Given the description of an element on the screen output the (x, y) to click on. 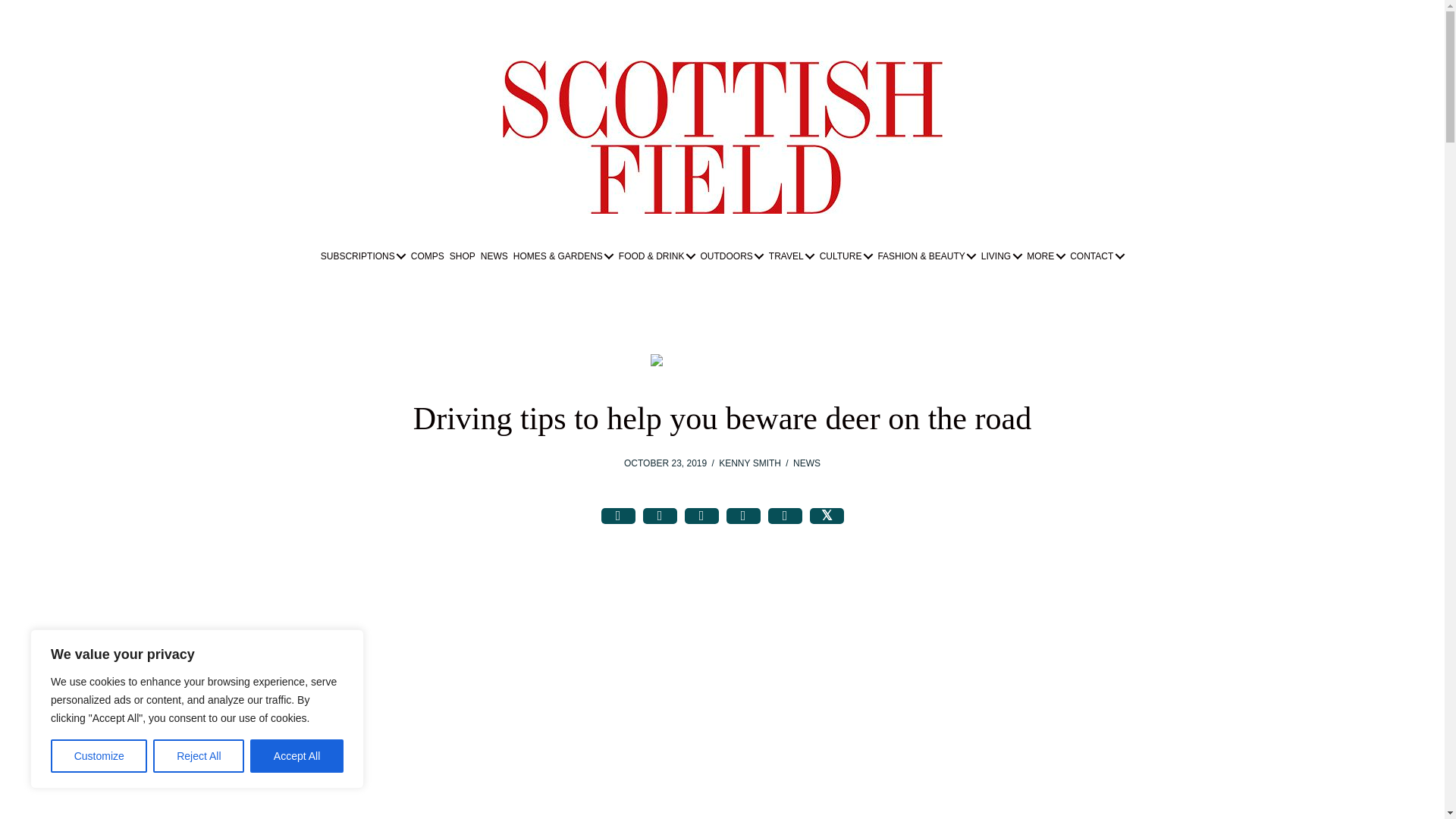
SUBSCRIPTIONS (362, 255)
COMPS (427, 255)
Reject All (198, 756)
NEWS (495, 255)
SHOP (461, 255)
OUTDOORS (731, 255)
Accept All (296, 756)
Customize (98, 756)
Scottish Field Lifestyle Magazine (722, 136)
Scotland TranServ Deer 1 (721, 359)
